Given the description of an element on the screen output the (x, y) to click on. 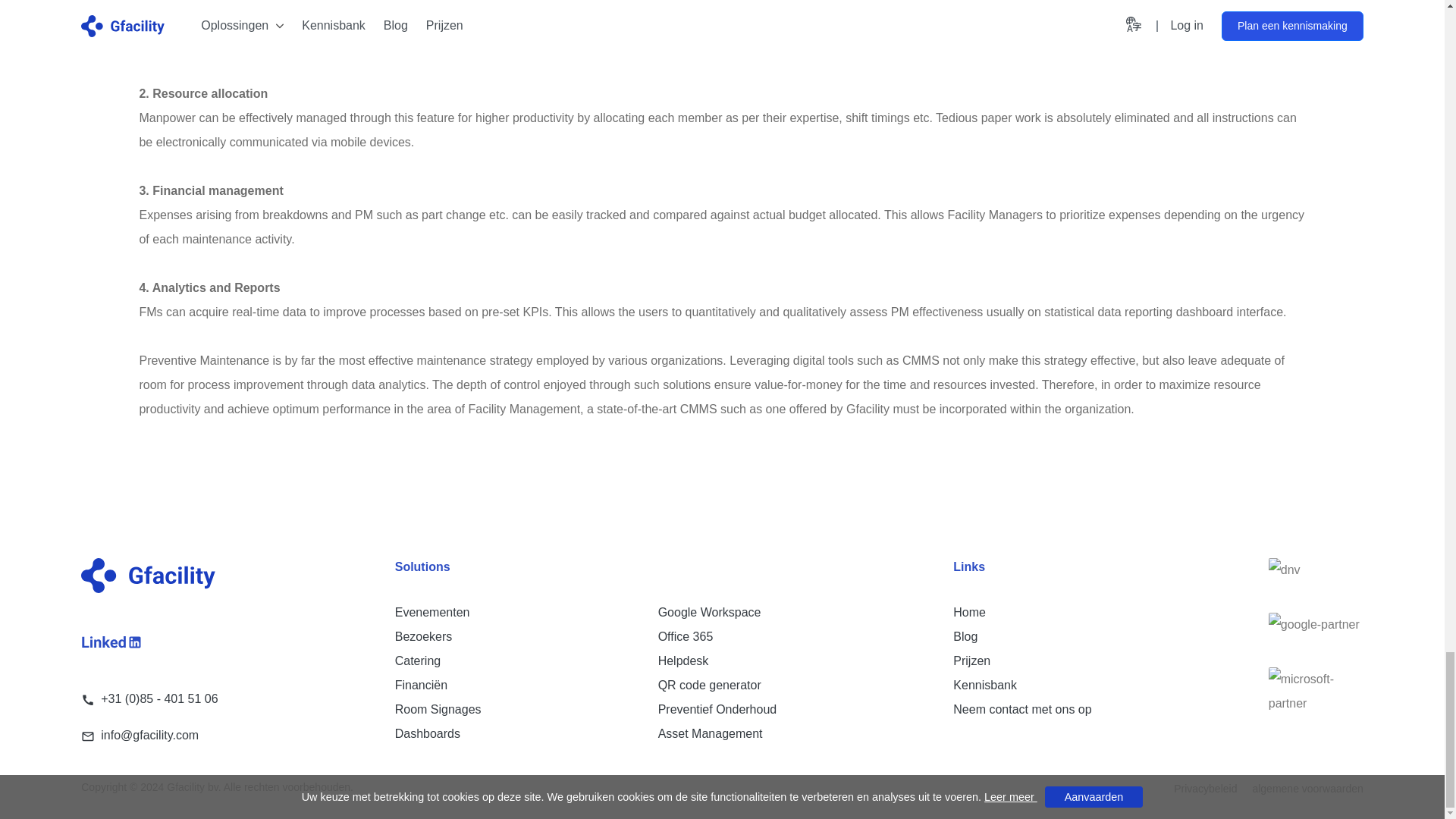
Prijzen (971, 660)
Helpdesk (683, 660)
Room Signages (437, 708)
Office 365 (685, 635)
Evenementen (432, 612)
Blog (964, 635)
Asset Management (710, 733)
algemene voorwaarden (1299, 788)
Privacybeleid (1204, 788)
Kennisbank (984, 684)
